Given the description of an element on the screen output the (x, y) to click on. 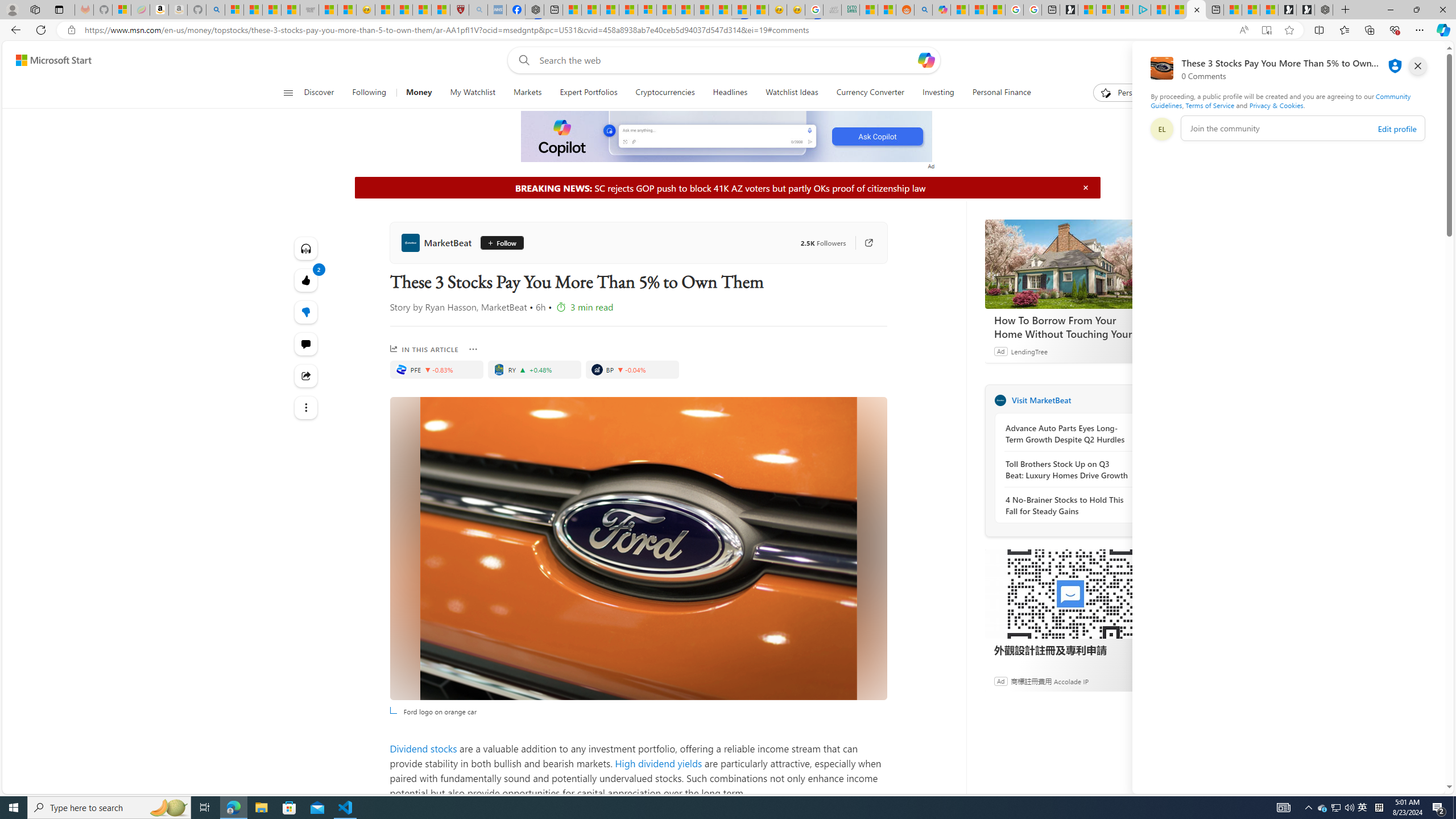
Cryptocurrencies (664, 92)
Currency Converter (869, 92)
Headlines (729, 92)
Hide (1084, 187)
Watchlist Ideas (791, 92)
Share this story (305, 375)
